Given the description of an element on the screen output the (x, y) to click on. 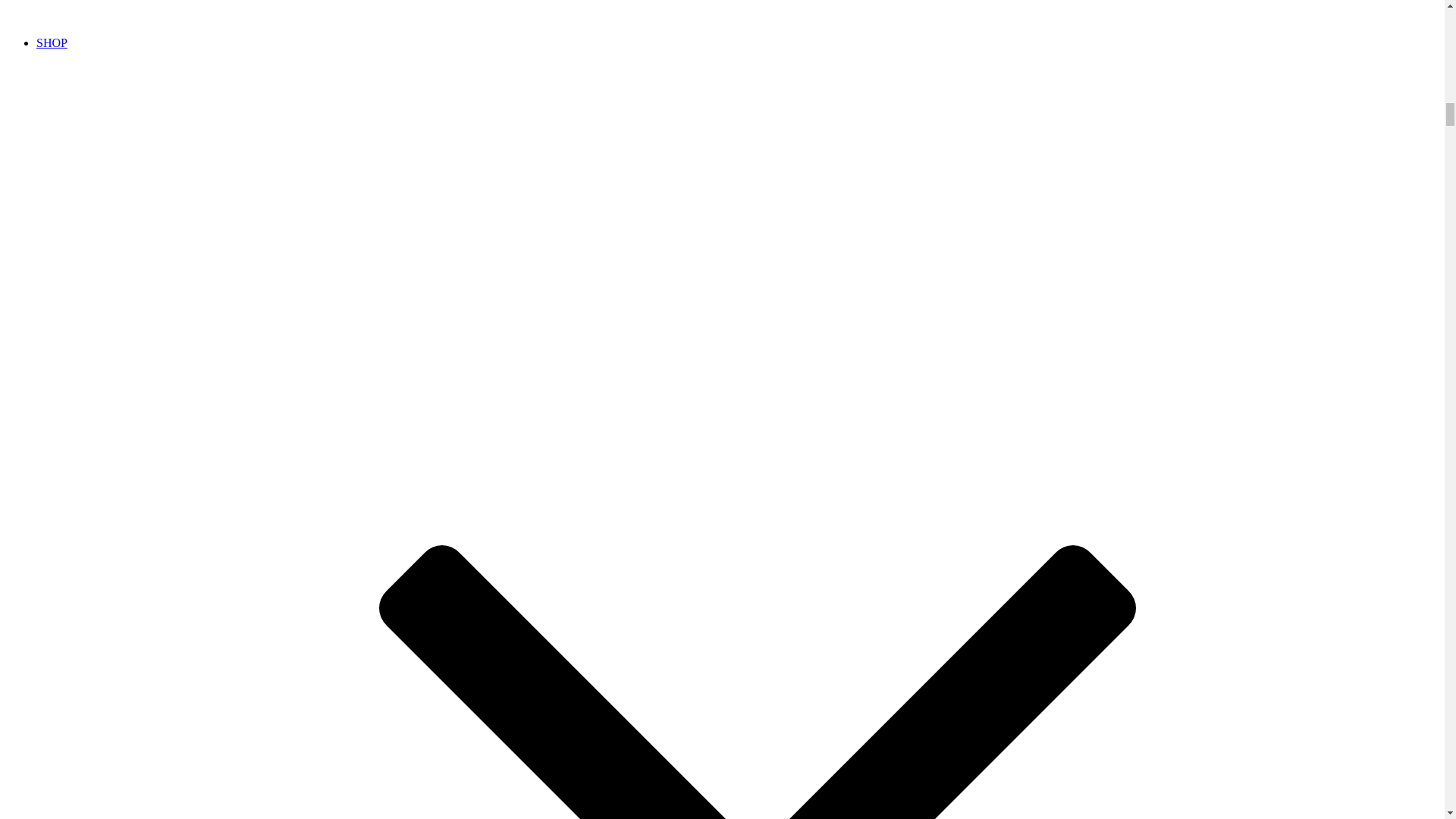
SHOP (51, 42)
